Given the description of an element on the screen output the (x, y) to click on. 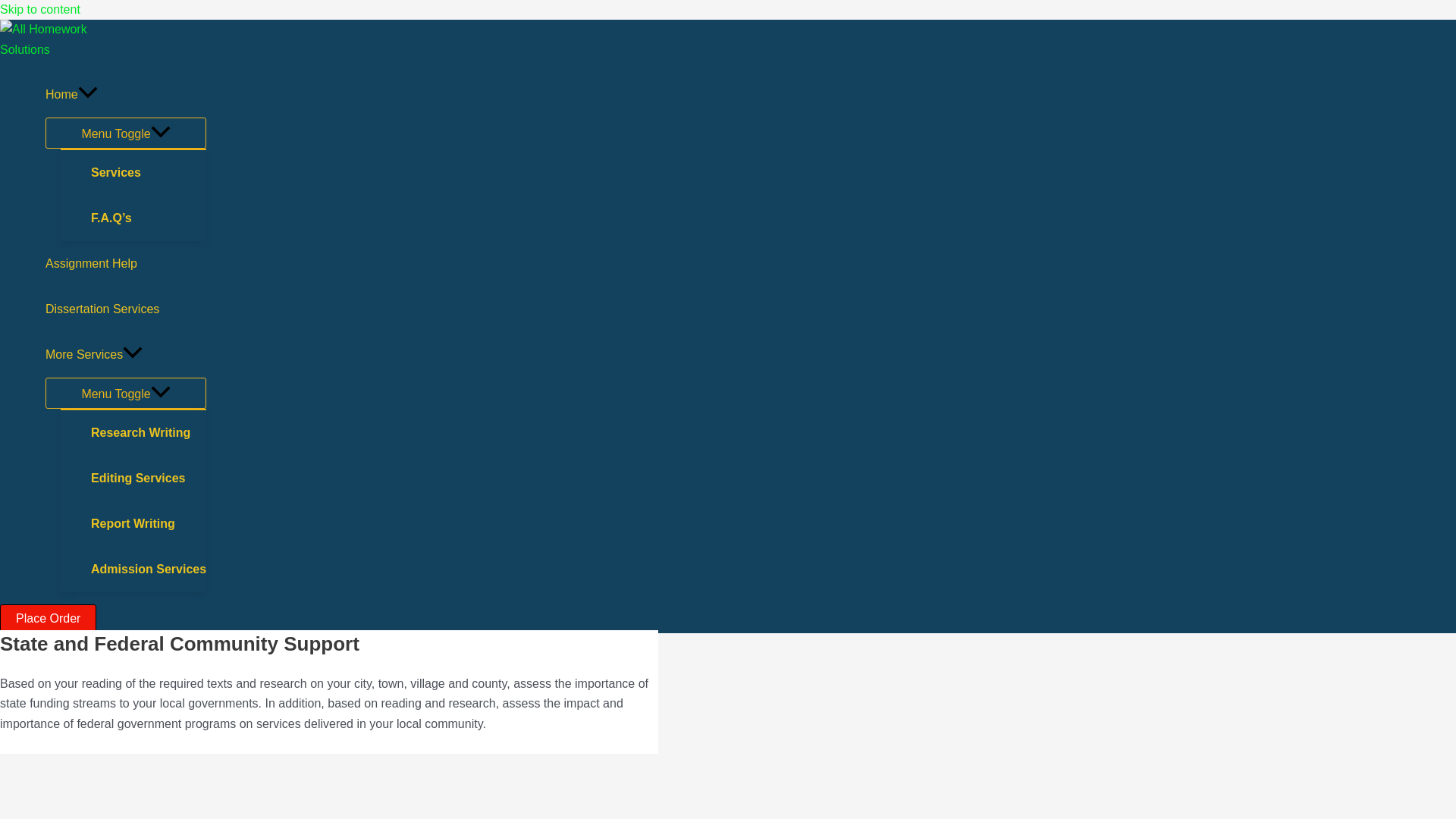
Skip to content (40, 9)
Menu Toggle (125, 392)
Dissertation Services (125, 309)
Place Order (48, 618)
Skip to content (40, 9)
Assignment Help (125, 263)
Report Writing (148, 524)
Menu Toggle (125, 132)
Editing Services (148, 478)
Admission Services (148, 569)
Services (148, 172)
More Services (125, 354)
Research Writing (148, 432)
Home (125, 94)
